Given the description of an element on the screen output the (x, y) to click on. 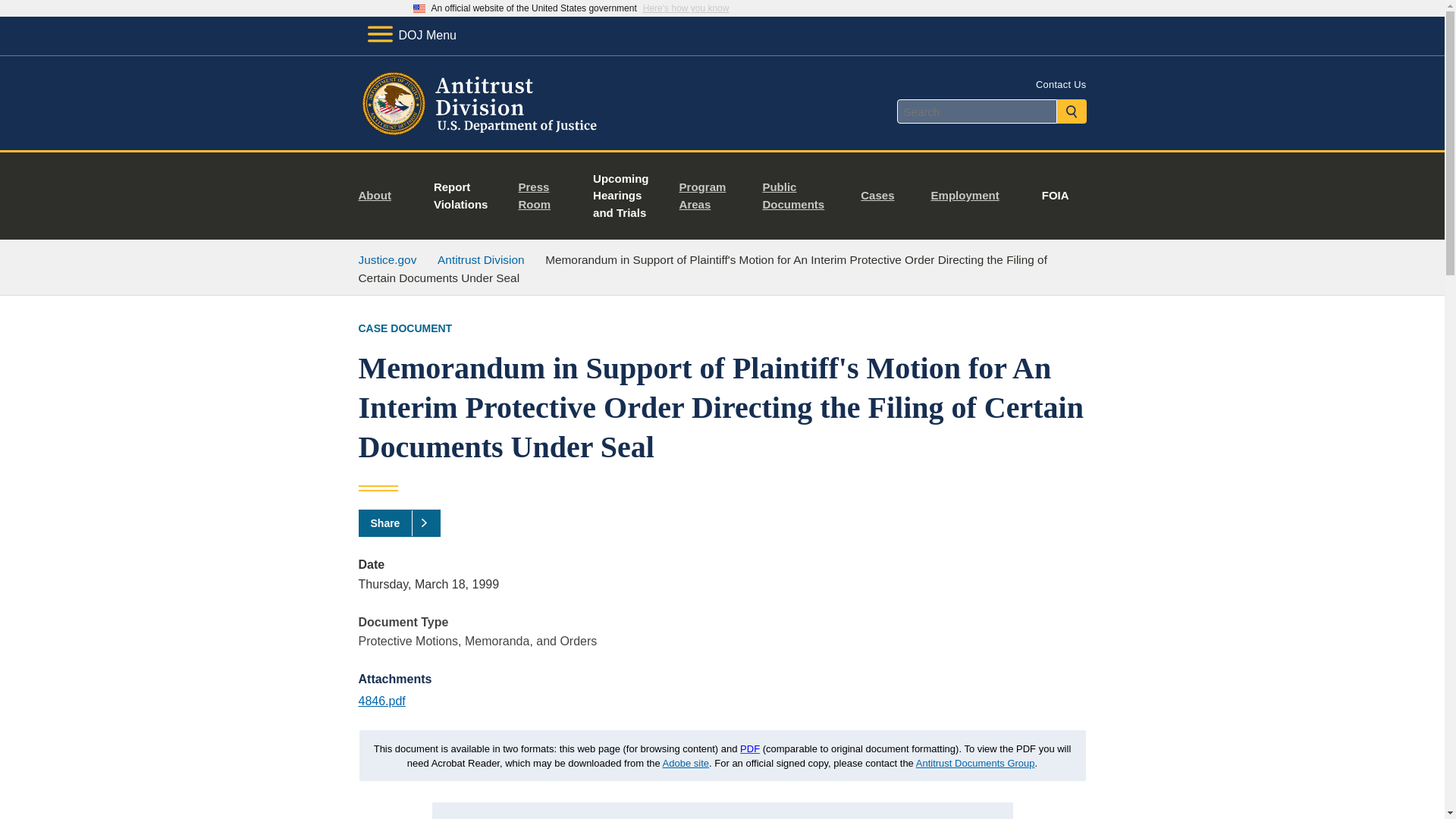
DOJ Menu (411, 35)
Antitrust Documents Group (975, 762)
Public Documents (798, 196)
Justice.gov (387, 259)
Program Areas (708, 196)
Report Violations (460, 196)
Upcoming Hearings and Trials (620, 196)
Antitrust Division (481, 259)
Contact Us (1060, 84)
Adobe site (685, 762)
